Given the description of an element on the screen output the (x, y) to click on. 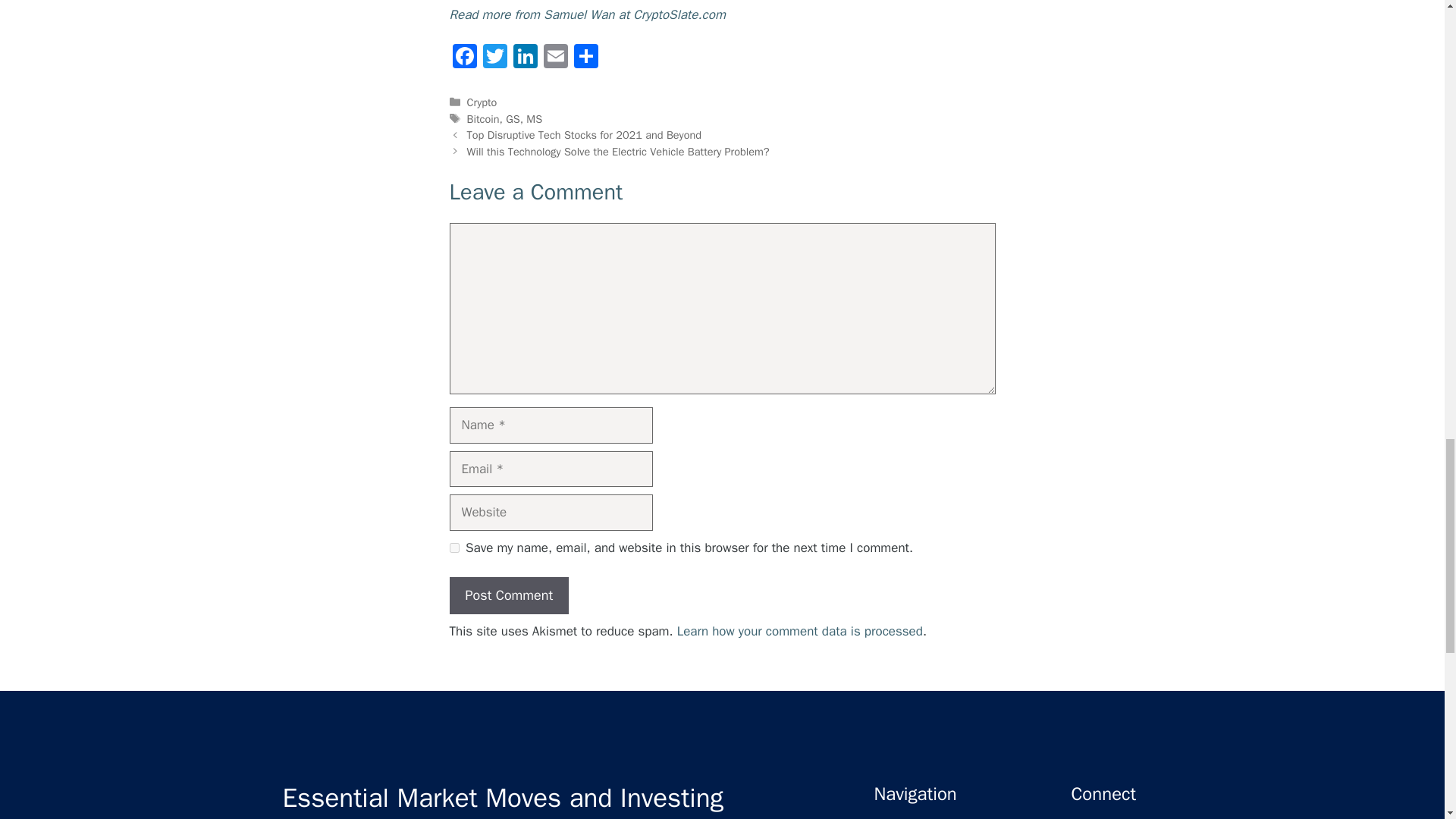
Share (584, 58)
Twitter (494, 58)
Email (555, 58)
Crypto (482, 101)
Email (555, 58)
LinkedIn (524, 58)
LinkedIn (524, 58)
yes (453, 547)
Top Disruptive Tech Stocks for 2021 and Beyond (584, 134)
GS (512, 119)
Post Comment (508, 595)
Learn how your comment data is processed (800, 631)
Twitter (494, 58)
Bitcoin (483, 119)
